Given the description of an element on the screen output the (x, y) to click on. 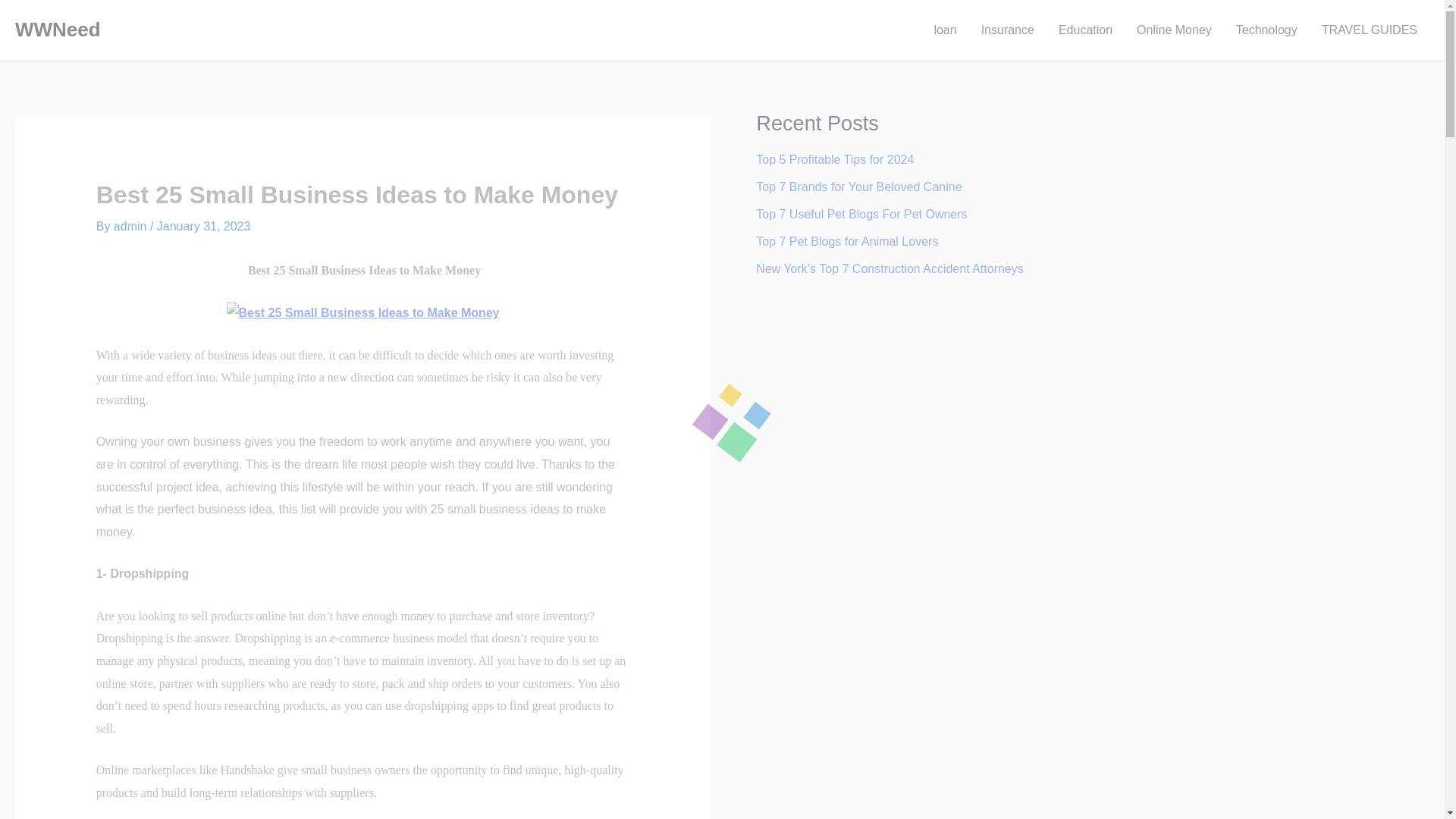
TRAVEL GUIDES (1368, 30)
Top 7 Useful Pet Blogs For Pet Owners (860, 214)
Top 5 Profitable Tips for 2024 (834, 159)
Education (1085, 30)
View all posts by admin (131, 226)
Top 7 Pet Blogs for Animal Lovers (846, 241)
Technology (1266, 30)
Top 7 Brands for Your Beloved Canine (857, 186)
admin (131, 226)
WWNeed (57, 29)
Online Money (1174, 30)
Best 25 Small Business Ideas to Make Money (363, 313)
Insurance (1007, 30)
